Given the description of an element on the screen output the (x, y) to click on. 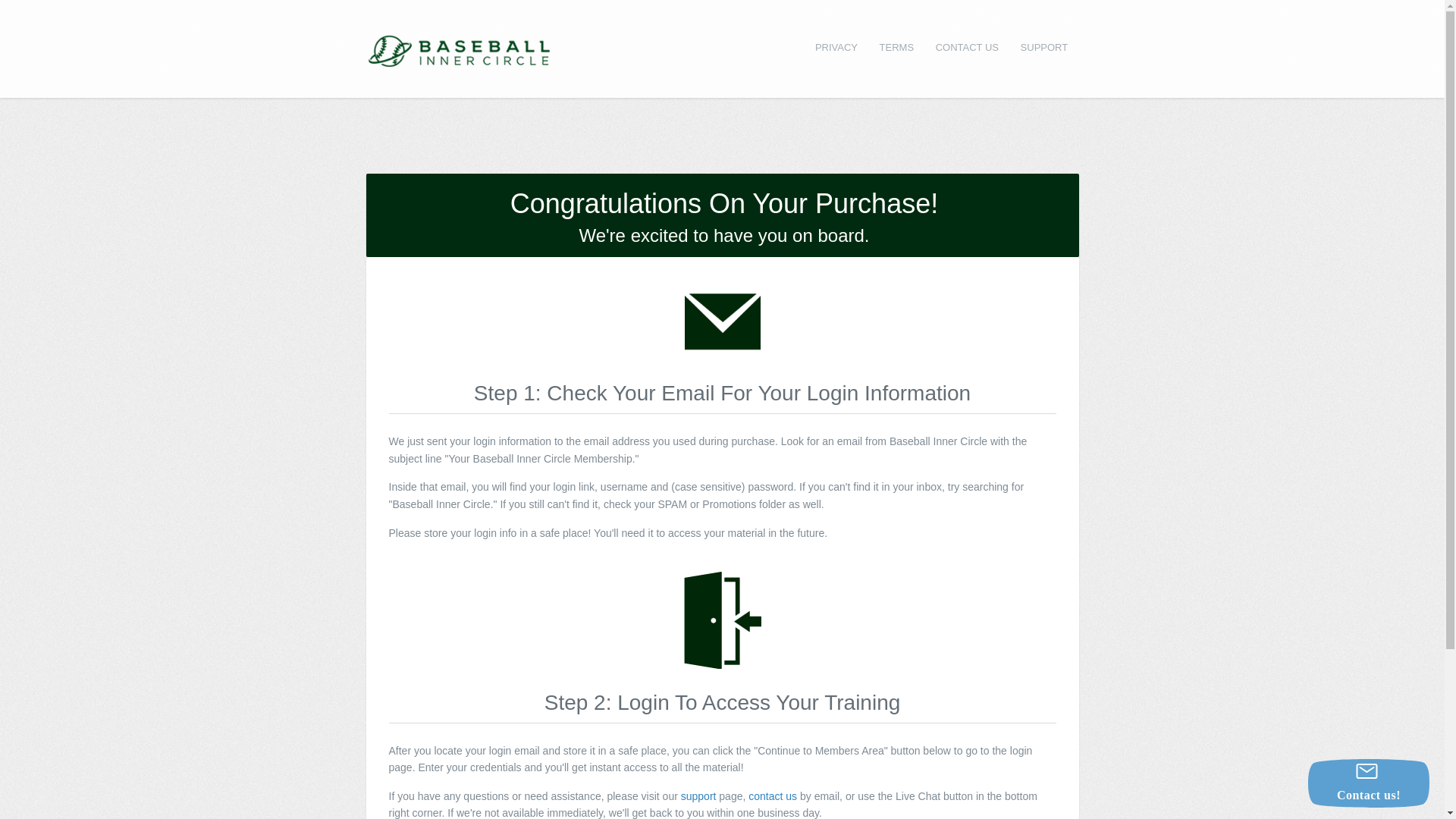
contact us (772, 796)
TERMS (895, 47)
SUPPORT (1043, 47)
support (698, 796)
CONTACT US (966, 47)
Contact us! (1368, 783)
PRIVACY (837, 47)
